Given the description of an element on the screen output the (x, y) to click on. 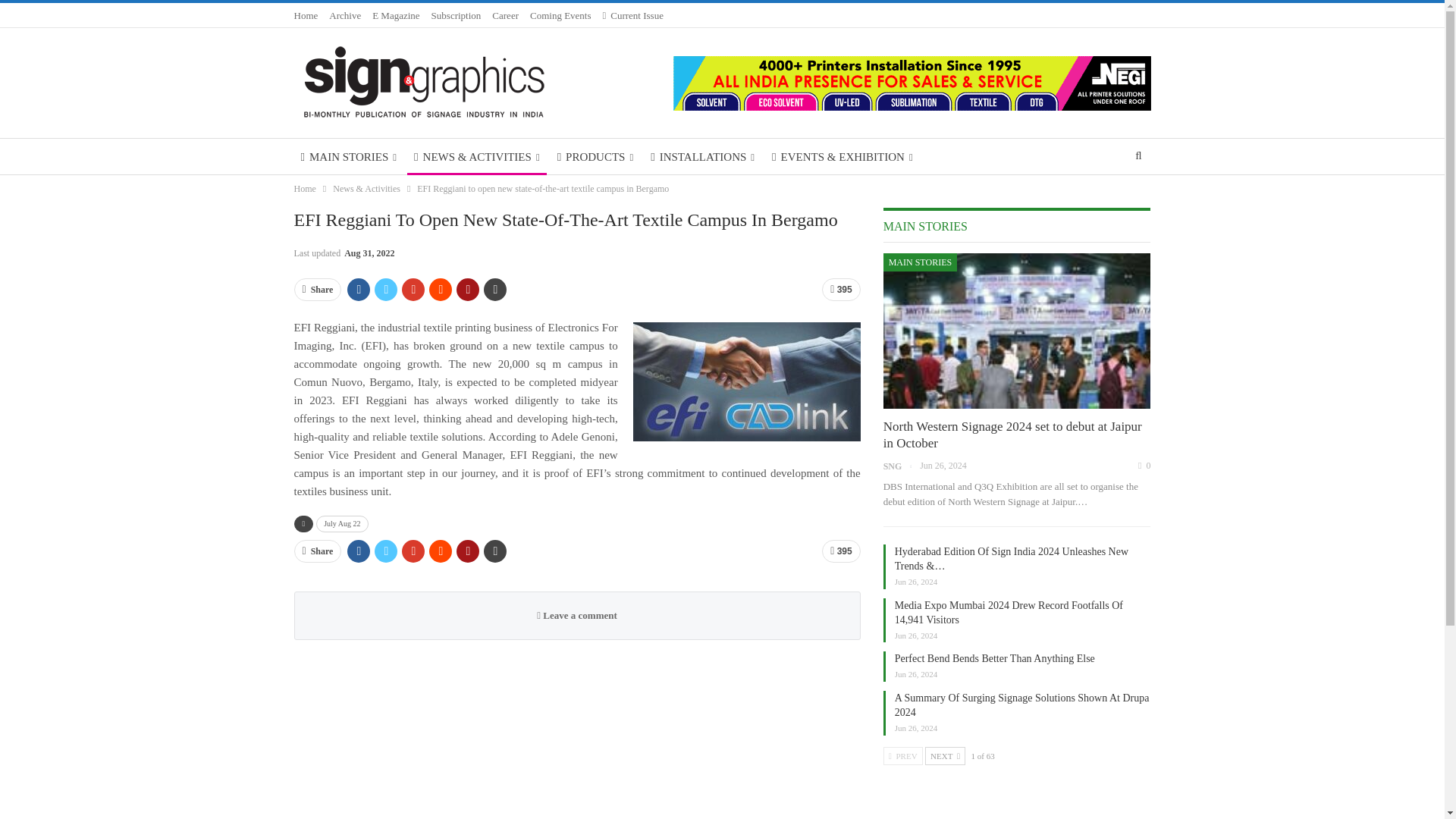
Home (306, 15)
Subscription (455, 15)
MAIN STORIES (349, 156)
Archive (345, 15)
Current Issue (632, 15)
E Magazine (395, 15)
Coming Events (560, 15)
Career (505, 15)
